Given the description of an element on the screen output the (x, y) to click on. 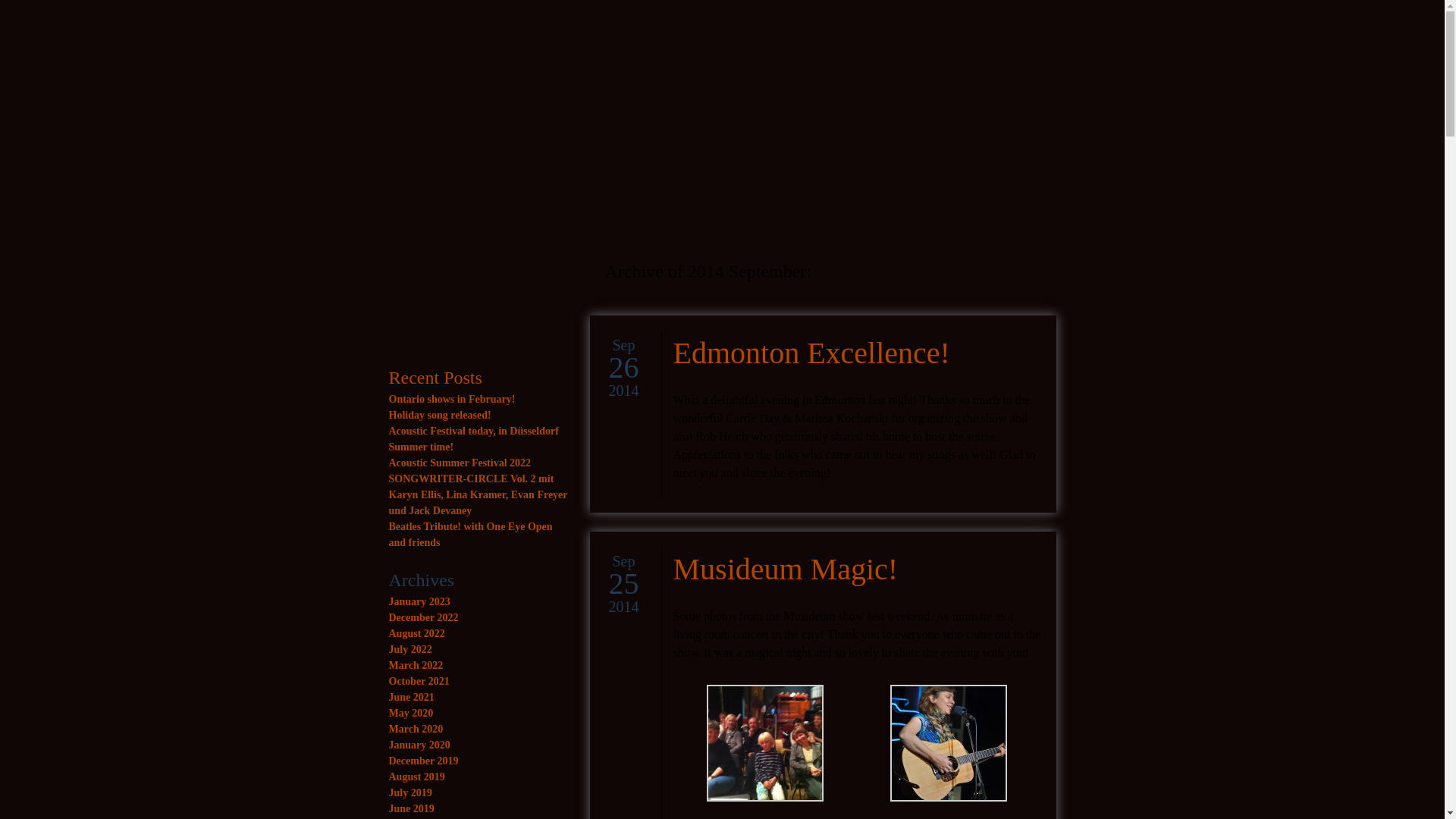
Photos (604, 22)
about (441, 22)
The Store: buy Karyn's music here. (815, 22)
music (555, 22)
Summer time! (420, 446)
August 2019 (416, 776)
December 2019 (423, 760)
Contact Karyn (888, 22)
January 2023 (418, 601)
Info about Karyn: bio, reviews, etc (441, 22)
October 2021 (418, 681)
Summer time! (420, 446)
March 2022 (415, 665)
